Given the description of an element on the screen output the (x, y) to click on. 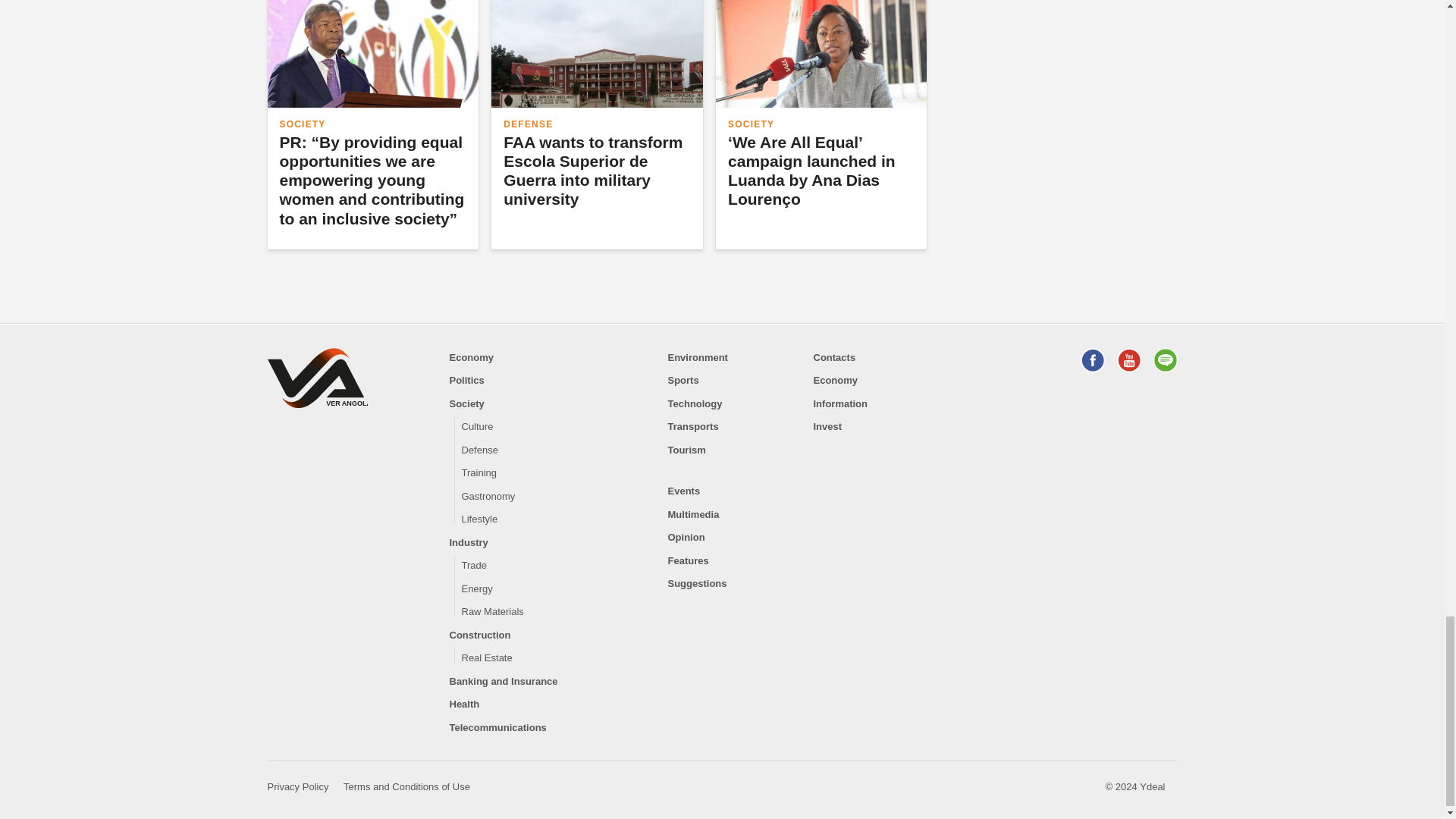
Ver Angola - Daily, the best of Angola (316, 380)
Ver Angola - Facebook (1091, 360)
Ver Angola - YouTube (1128, 360)
